Given the description of an element on the screen output the (x, y) to click on. 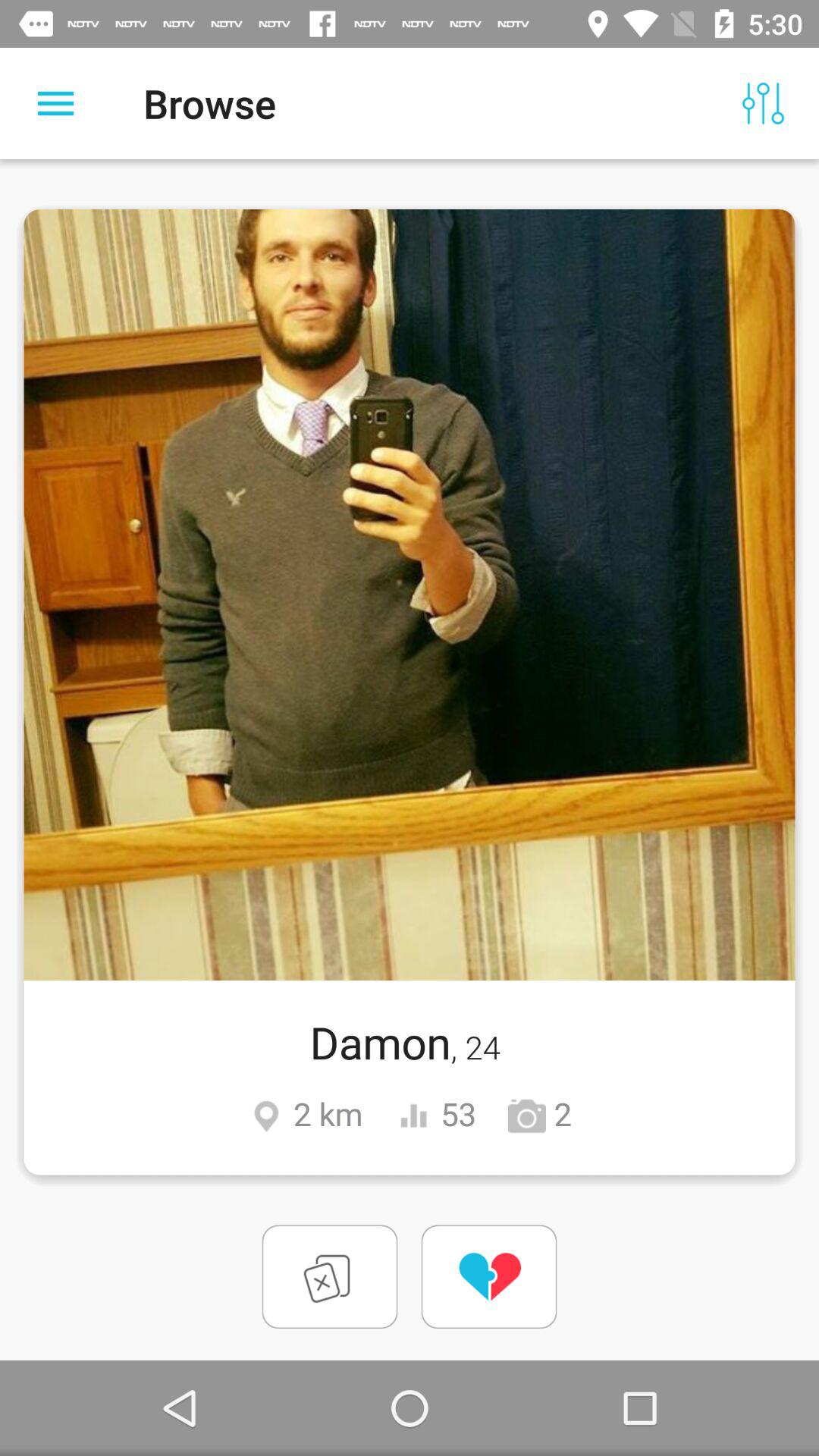
select item at the top right corner (763, 103)
